Given the description of an element on the screen output the (x, y) to click on. 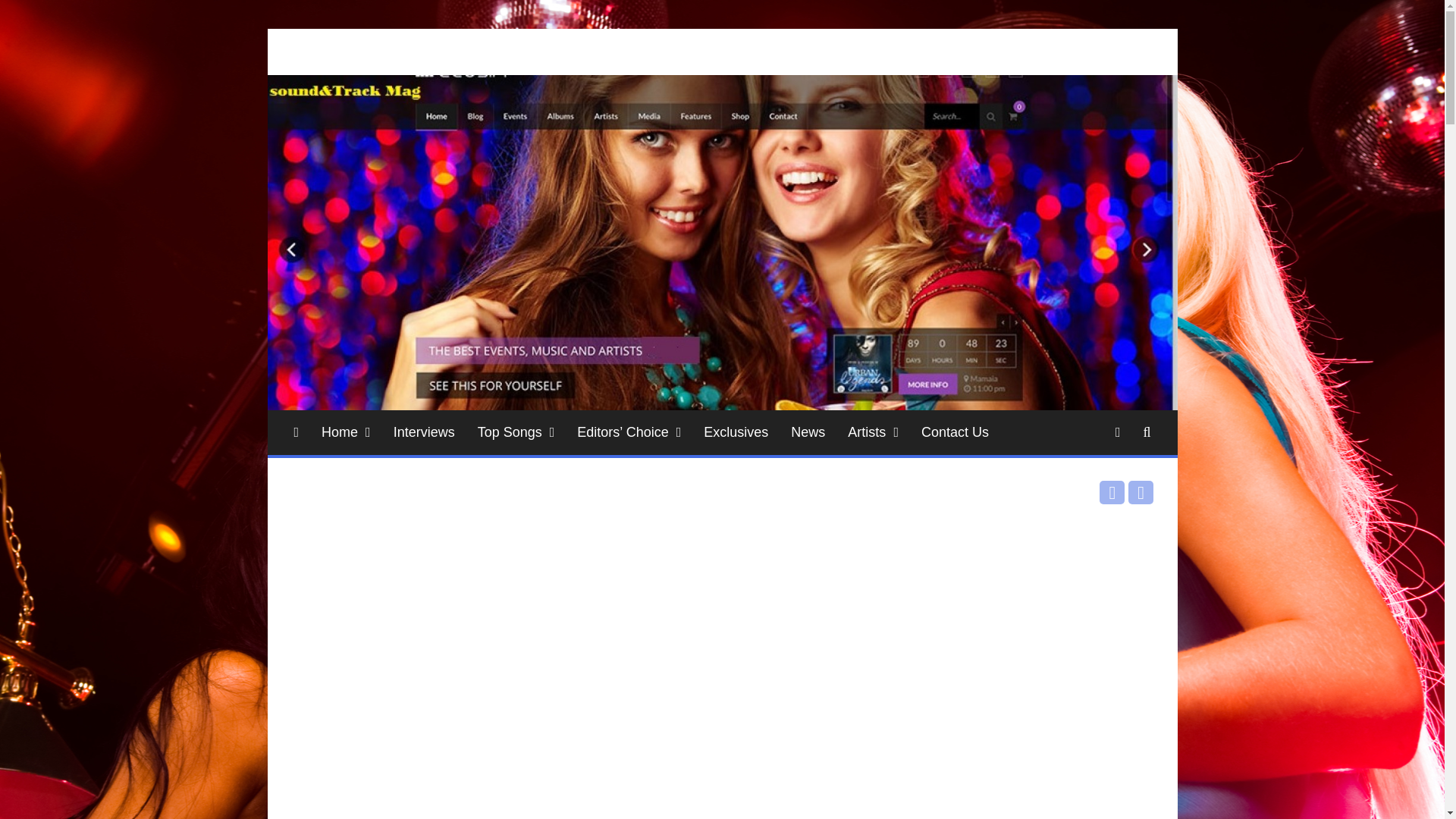
Artists (872, 432)
Exclusives (735, 432)
Top Songs (515, 432)
Contact Us (955, 432)
Interviews (423, 432)
News (806, 432)
Home (345, 432)
SnT Mag (339, 72)
